Given the description of an element on the screen output the (x, y) to click on. 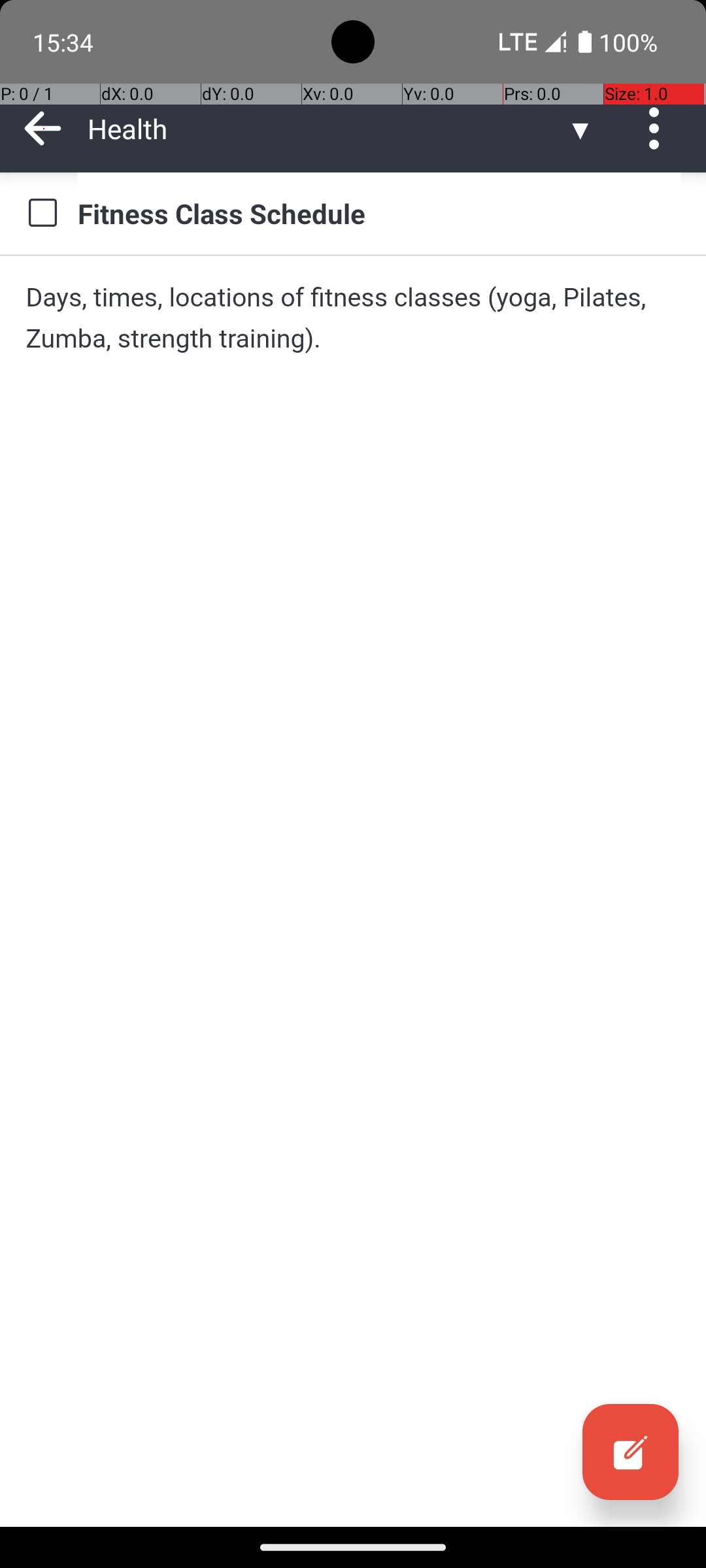
Days, times, locations of fitness classes (yoga, Pilates, Zumba, strength training). Element type: android.widget.TextView (352, 317)
